Given the description of an element on the screen output the (x, y) to click on. 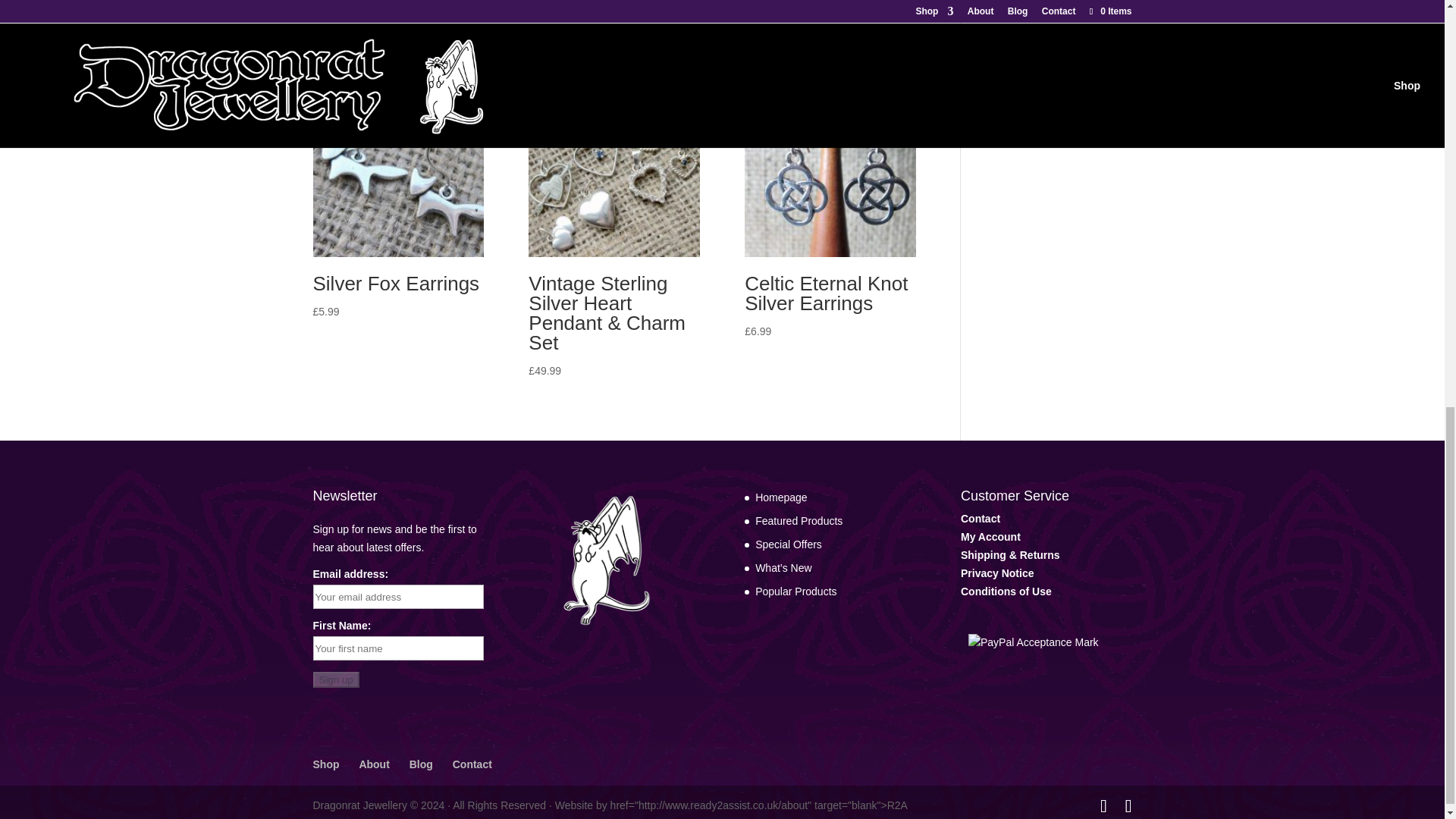
Sign up (335, 679)
How PayPal Works (1033, 642)
